Given the description of an element on the screen output the (x, y) to click on. 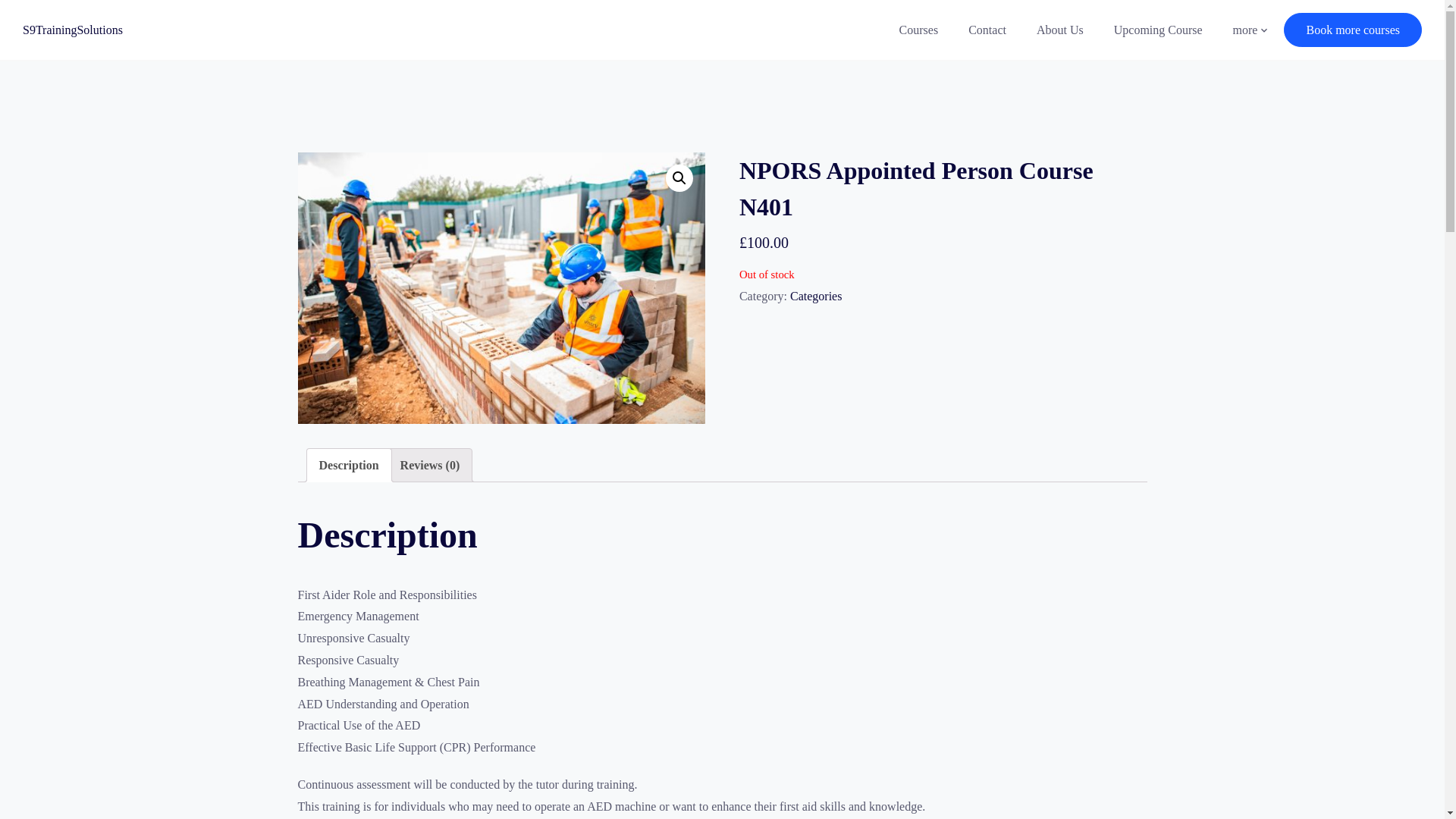
Categories (815, 295)
more (1245, 29)
About Us (1059, 29)
Courses (918, 29)
Upcoming Course (1158, 29)
Description (348, 464)
Book more courses (1353, 29)
Contact (986, 29)
S9TrainingSolutions (72, 29)
